Given the description of an element on the screen output the (x, y) to click on. 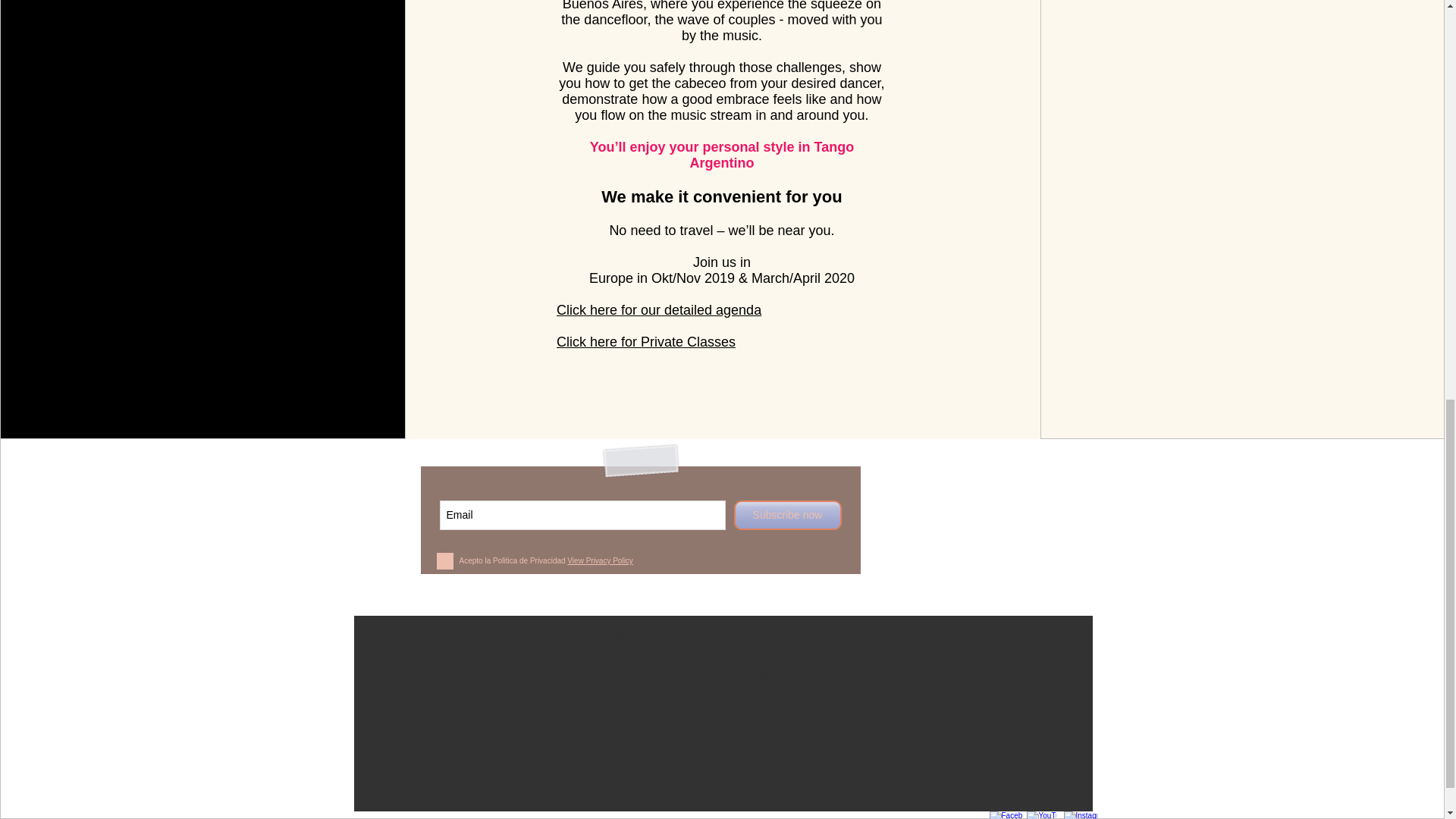
View Privacy Policy (600, 560)
References (407, 796)
Choreography Seminars (536, 675)
Our Studio (407, 757)
Orquesta Seminars (532, 719)
Our Philosophy (407, 637)
Subscribe now (787, 514)
Agenda (882, 637)
Click here for our detailed agenda (658, 309)
Fotos (768, 637)
Booking (653, 675)
Videos (768, 675)
About us (407, 675)
Click here for Private Classes (645, 341)
Contact (997, 637)
